Given the description of an element on the screen output the (x, y) to click on. 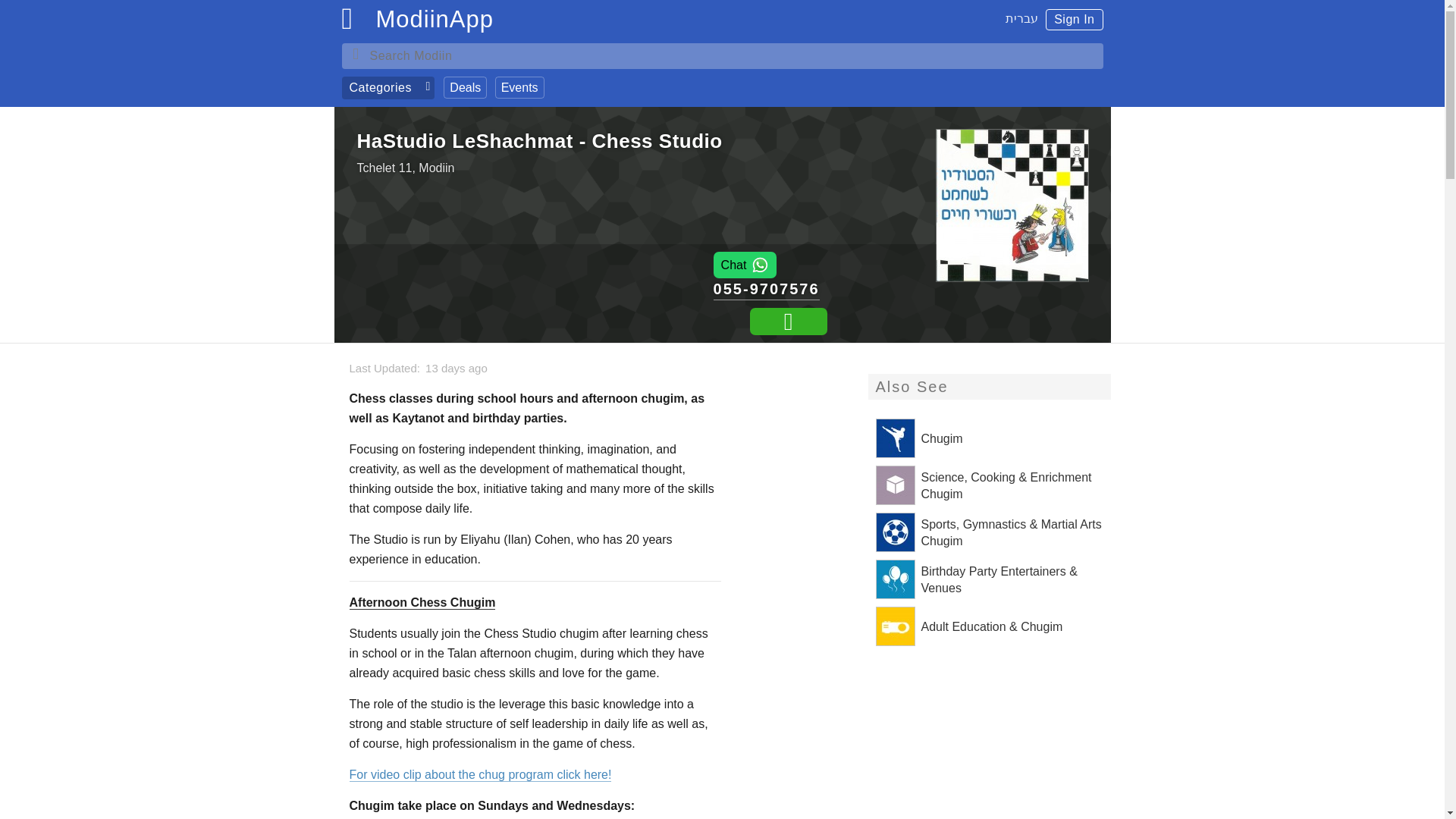
Categories (386, 87)
Deals (465, 87)
Events (519, 87)
ModiinApp (434, 22)
Sign In (1073, 19)
